Given the description of an element on the screen output the (x, y) to click on. 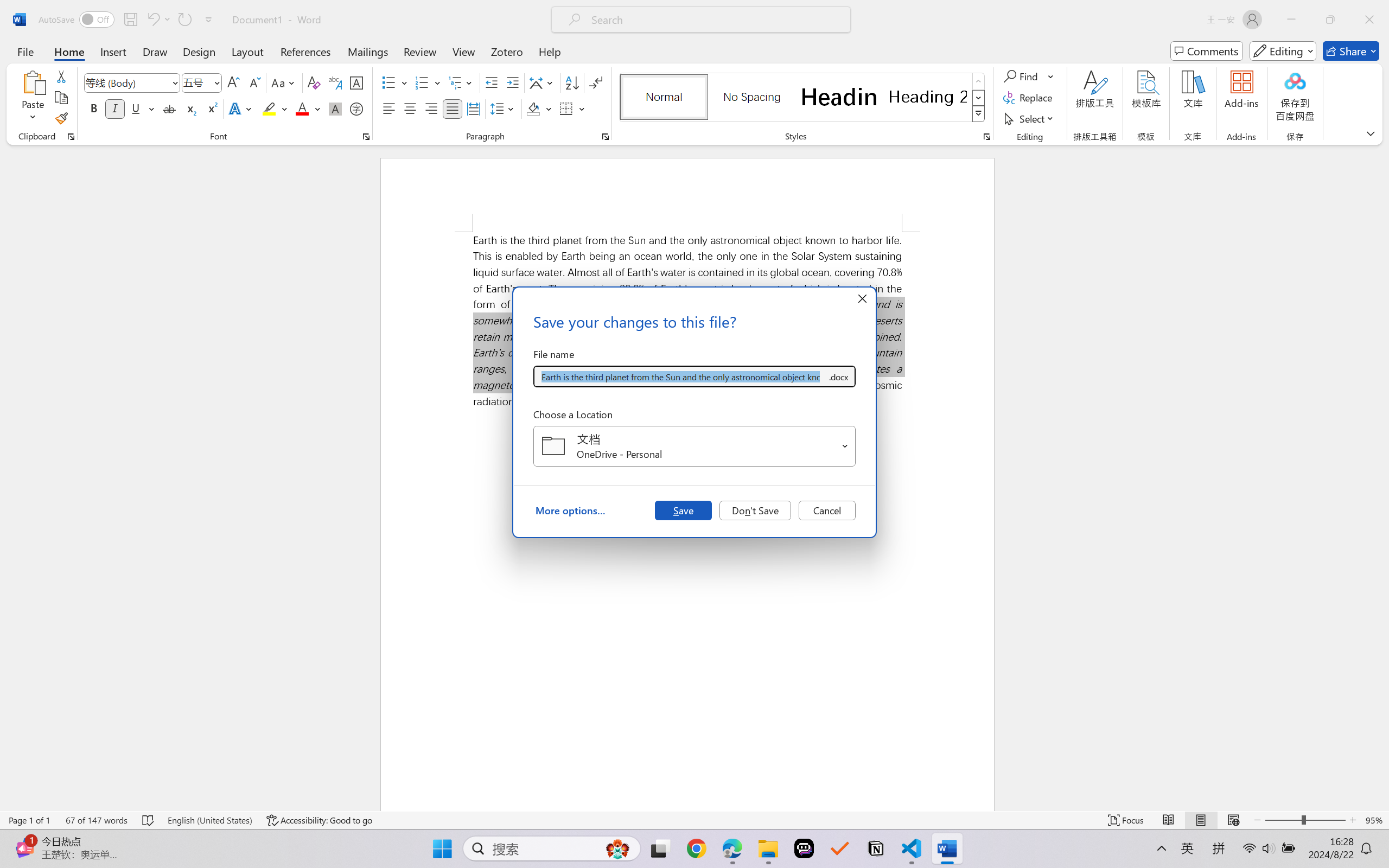
Help (549, 51)
Repeat Italic (184, 19)
Microsoft search (715, 19)
File name (680, 376)
Change Case (284, 82)
Choose a Location (694, 446)
